Given the description of an element on the screen output the (x, y) to click on. 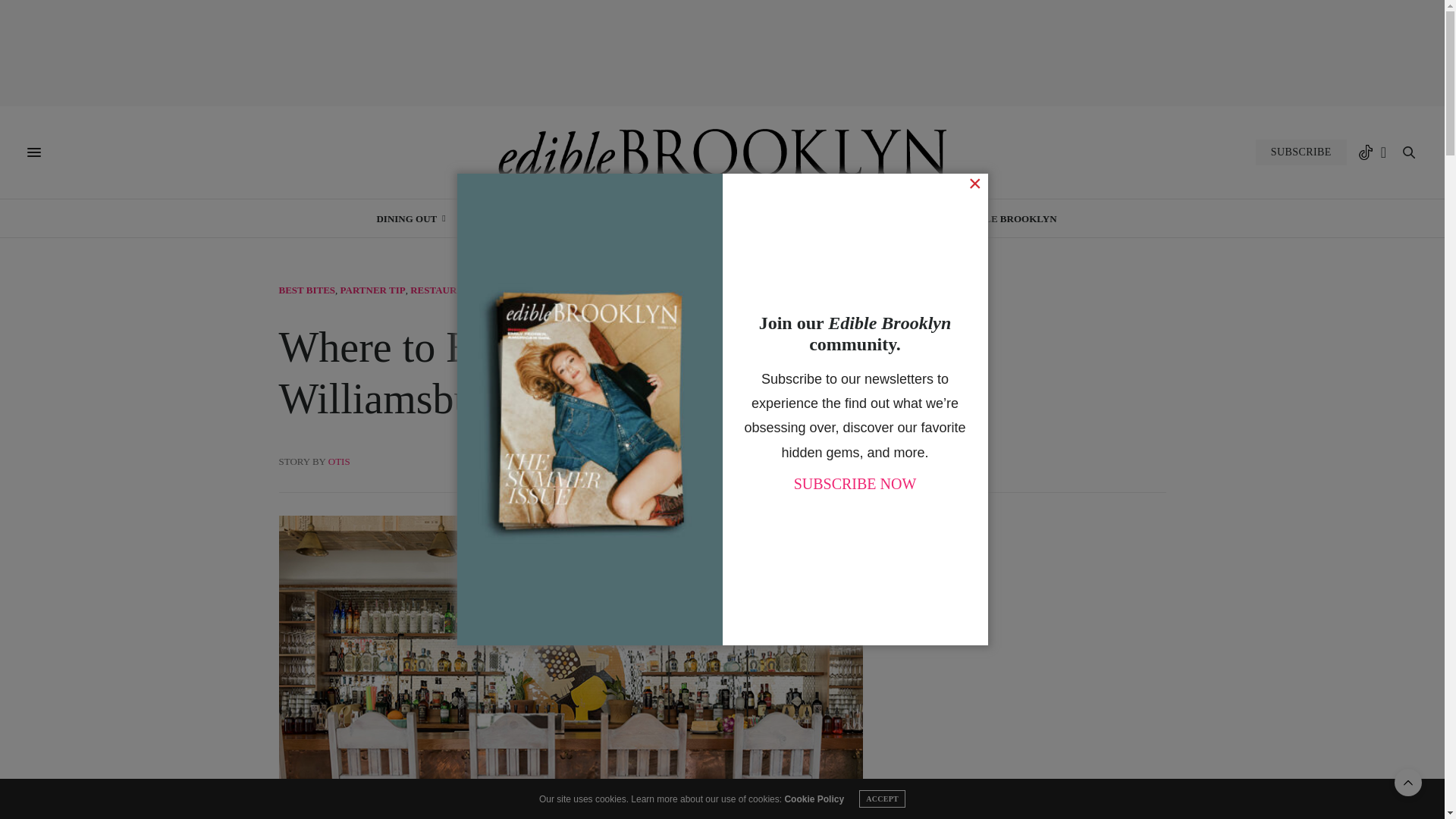
3rd party ad content (722, 52)
